Given the description of an element on the screen output the (x, y) to click on. 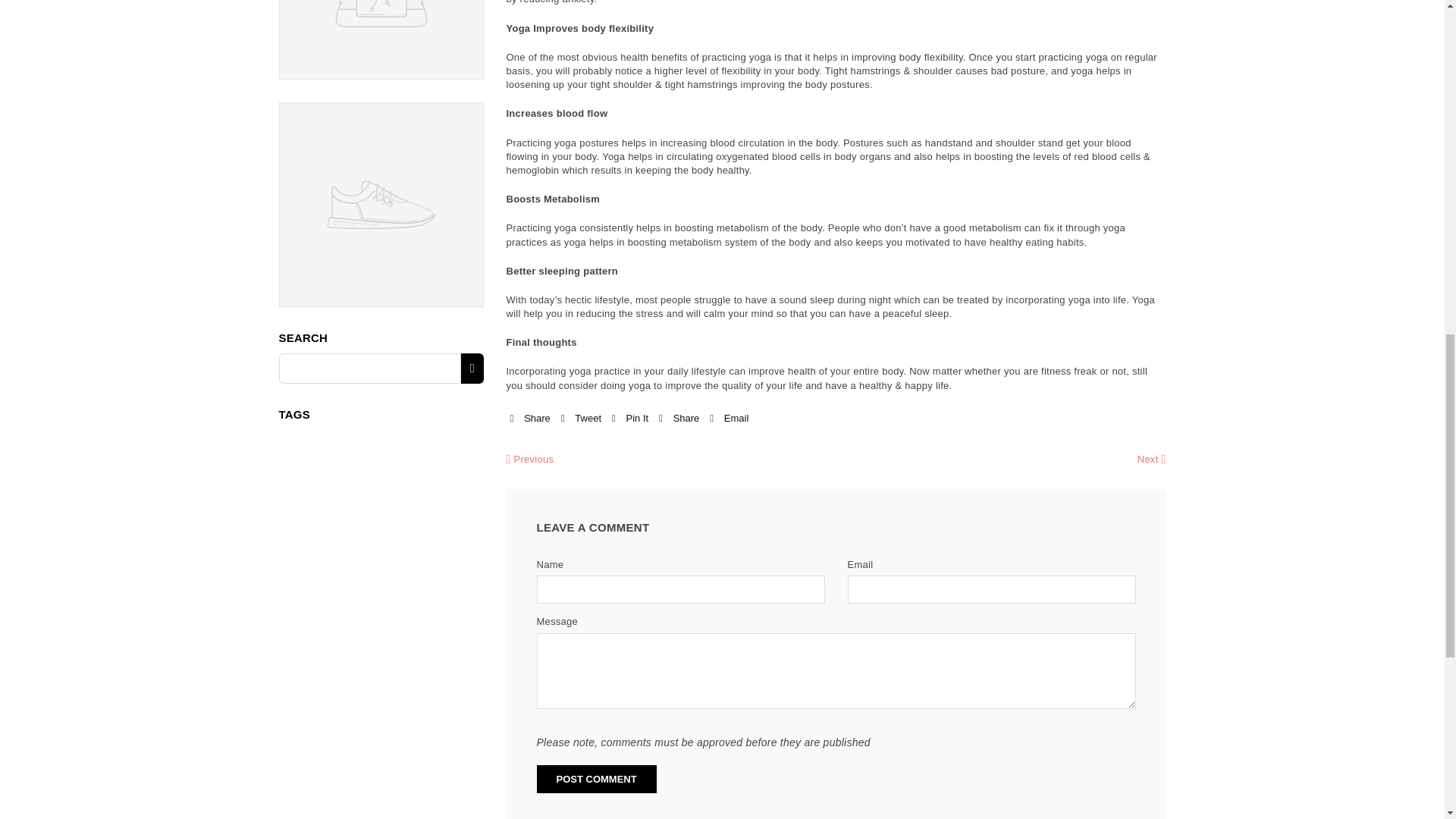
Email (729, 418)
Post comment (596, 778)
Next (1151, 459)
Share by Email (729, 418)
Pin It (629, 418)
Yoga Improves body flexibility (579, 28)
Tweet (580, 418)
Previous (530, 459)
Share (678, 418)
Share on Facebook (529, 418)
